Given the description of an element on the screen output the (x, y) to click on. 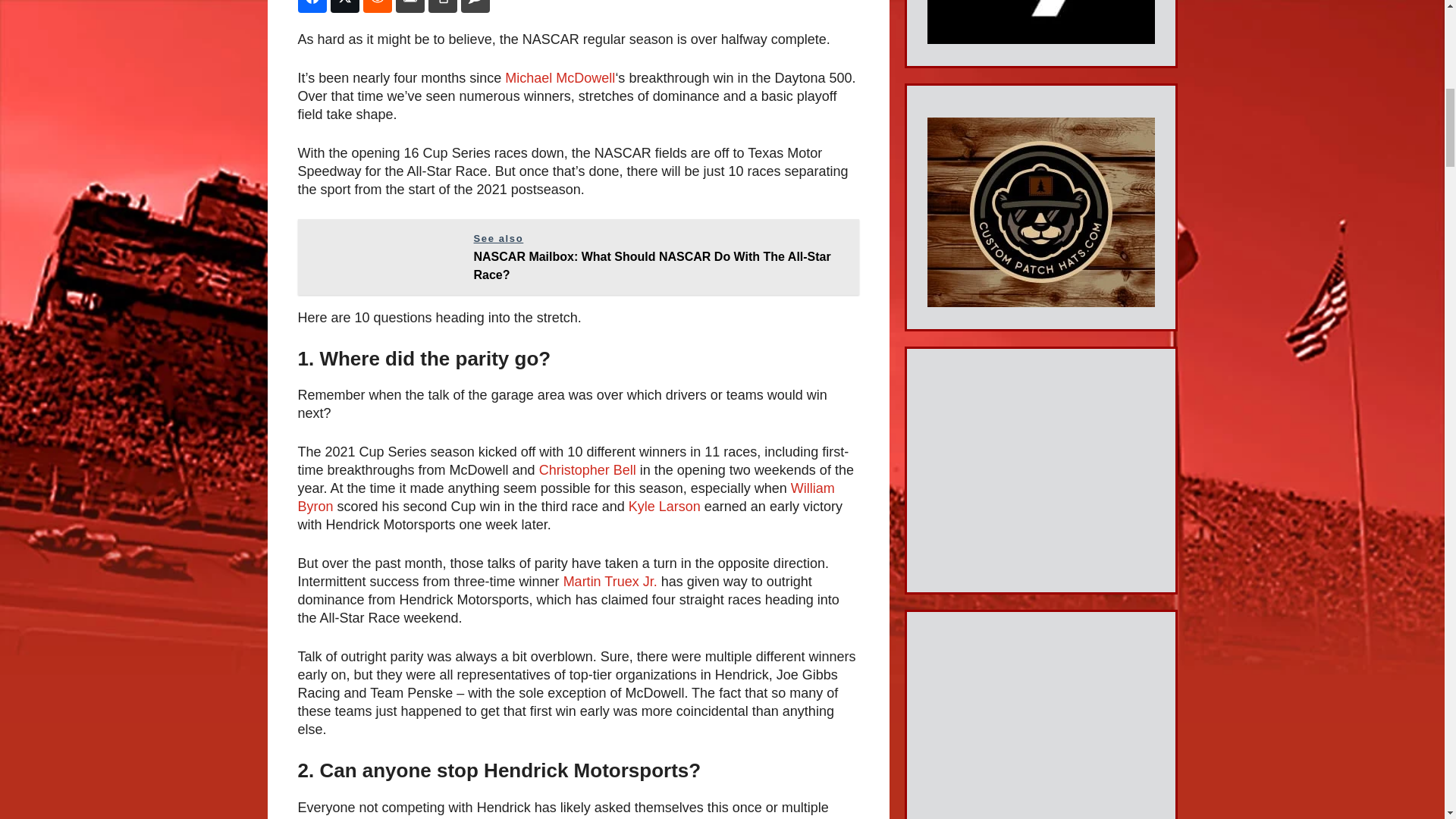
Share on Comments (475, 6)
Share on Reddit (376, 6)
Share on Copy Link (442, 6)
Share on Email (410, 6)
Christopher Bell (587, 469)
Share on Twitter (344, 6)
Martin Truex Jr. (610, 581)
Michael McDowell (559, 77)
Share on Facebook (311, 6)
